Given the description of an element on the screen output the (x, y) to click on. 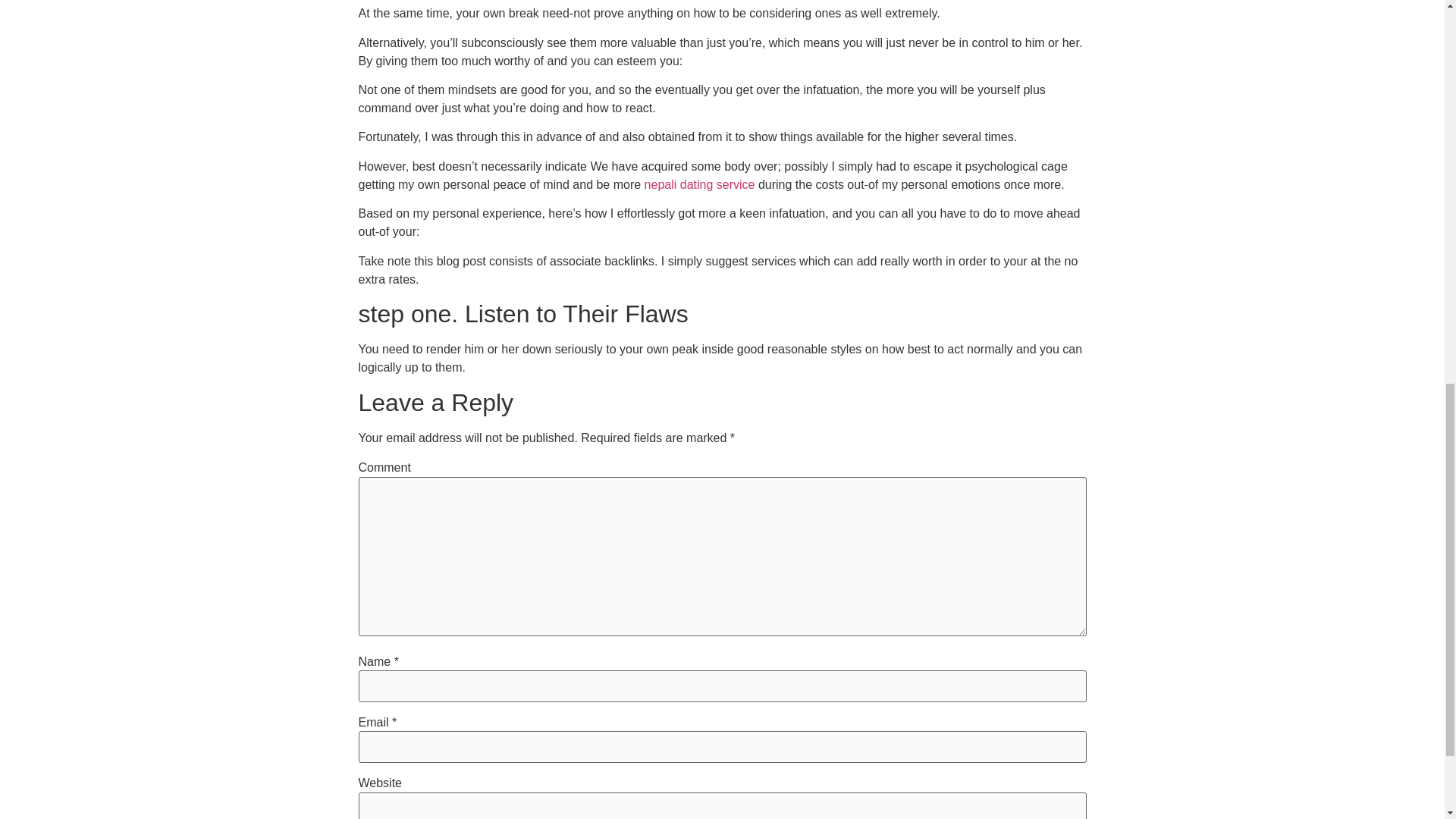
nepali dating service (700, 184)
